Given the description of an element on the screen output the (x, y) to click on. 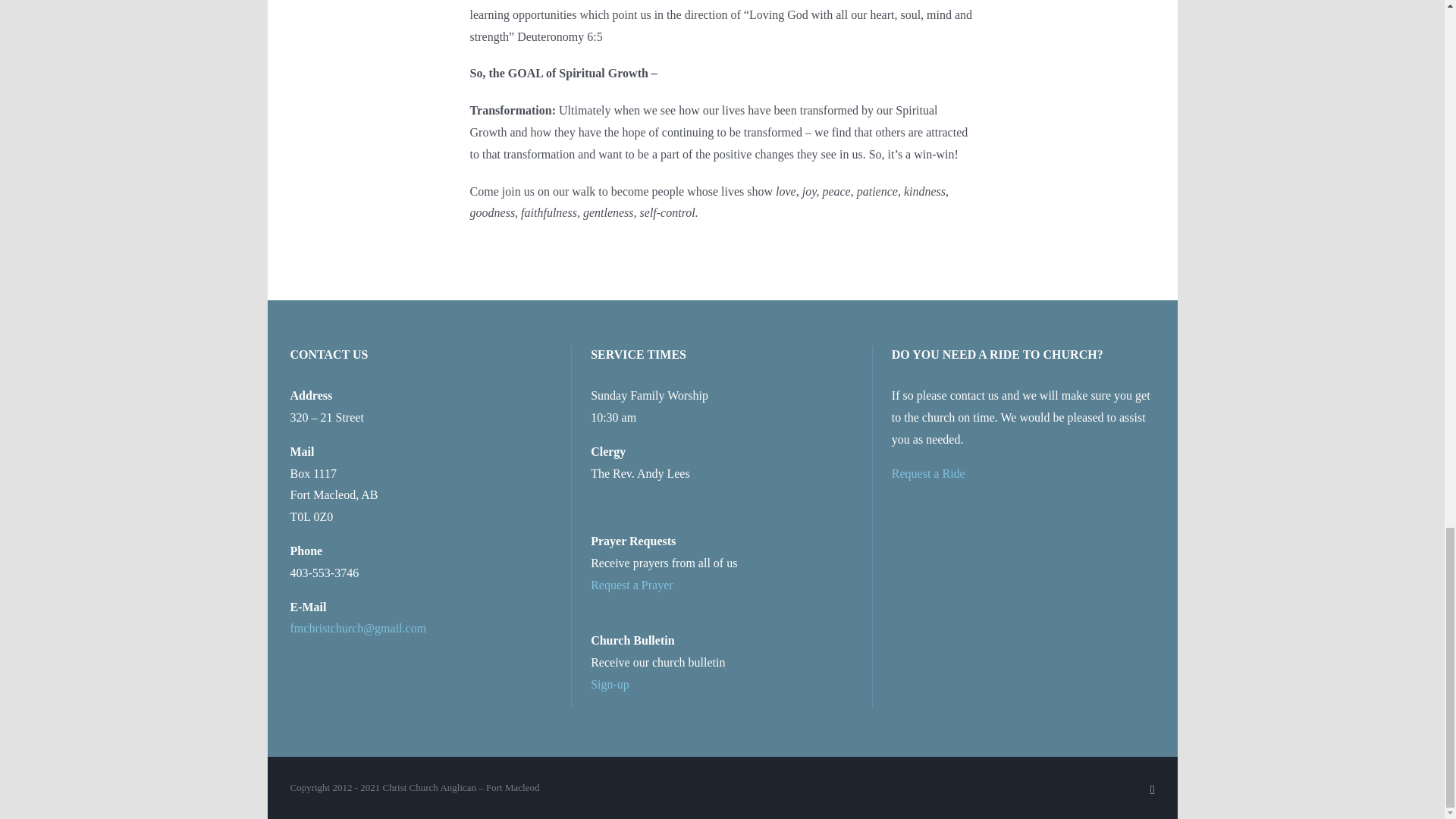
Request a Ride (928, 472)
Sign-up (609, 684)
Request a Prayer (631, 584)
